Given the description of an element on the screen output the (x, y) to click on. 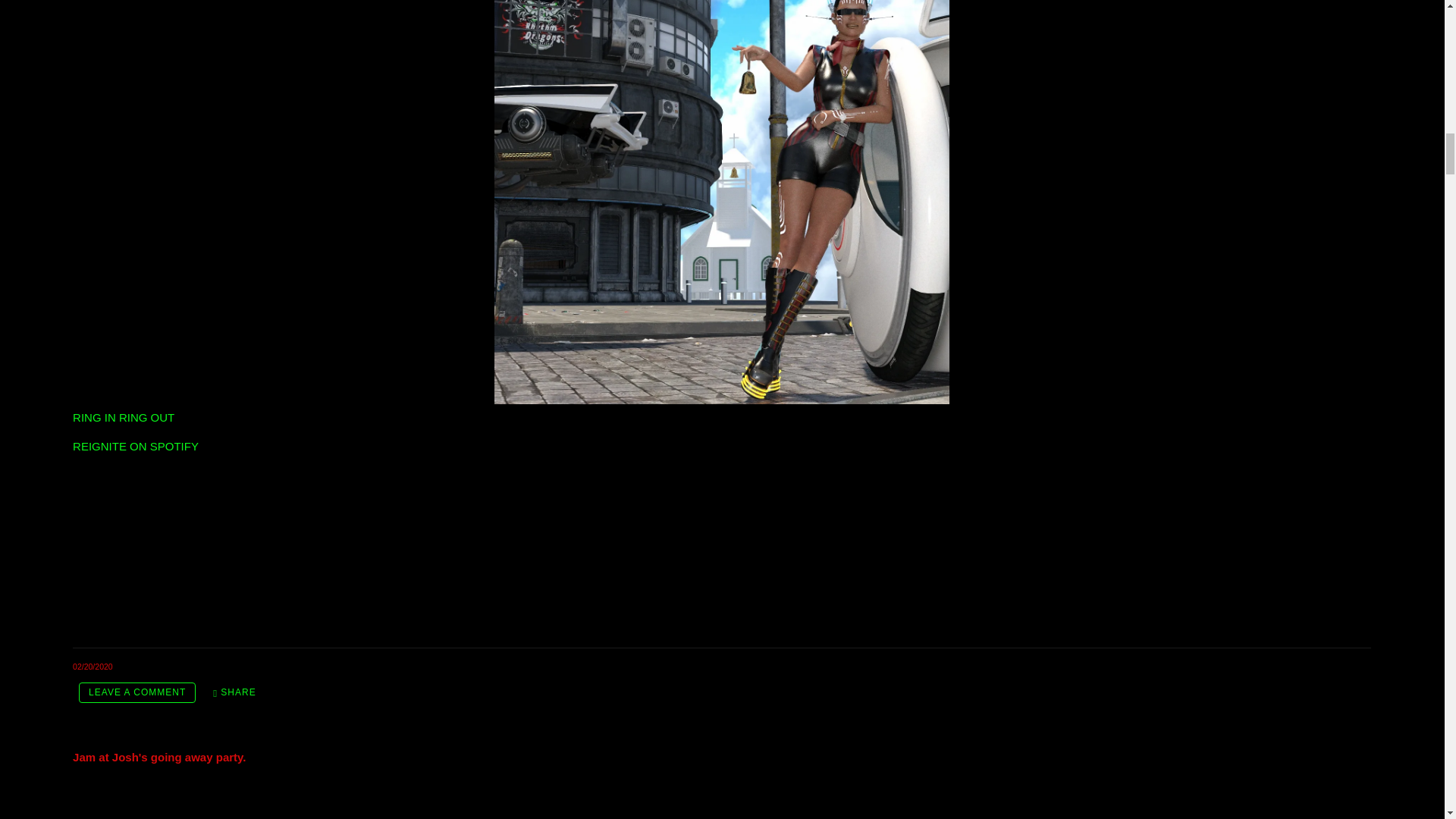
Jam at Josh's going away party. (159, 757)
Share NEW ALBUM! RING IN RING OUT (233, 692)
SHARE (233, 692)
February 20, 2020 15:08 (92, 665)
REIGNITE ON SPOTIFY (135, 445)
LEAVE A COMMENT (136, 692)
Leave a comment (136, 692)
